Given the description of an element on the screen output the (x, y) to click on. 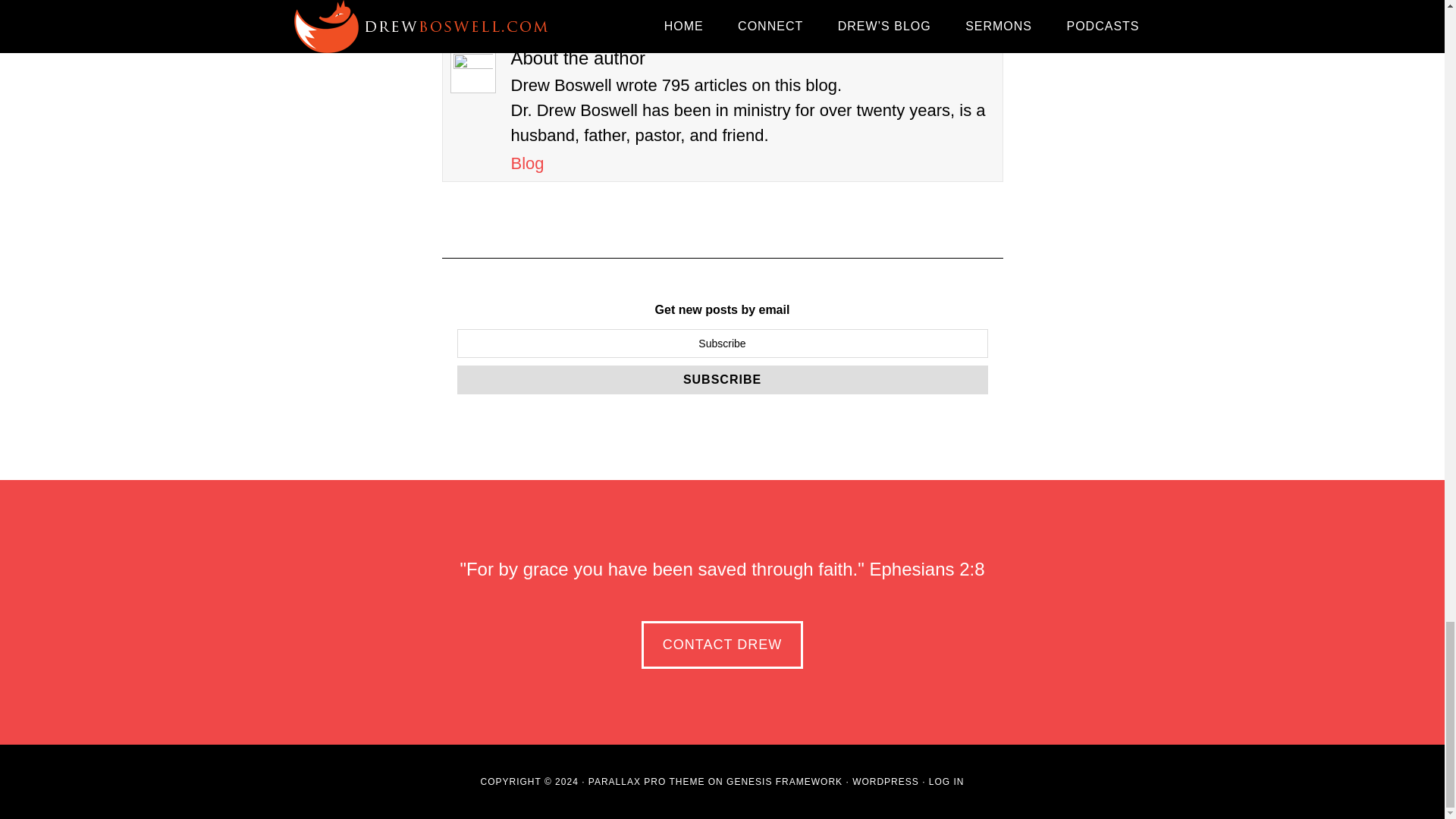
PARALLAX PRO THEME (646, 781)
Blog (527, 162)
GENESIS FRAMEWORK (784, 781)
Subscribe (722, 379)
LOG IN (945, 781)
Subscribe (722, 379)
CONTACT DREW (722, 644)
WORDPRESS (884, 781)
